Given the description of an element on the screen output the (x, y) to click on. 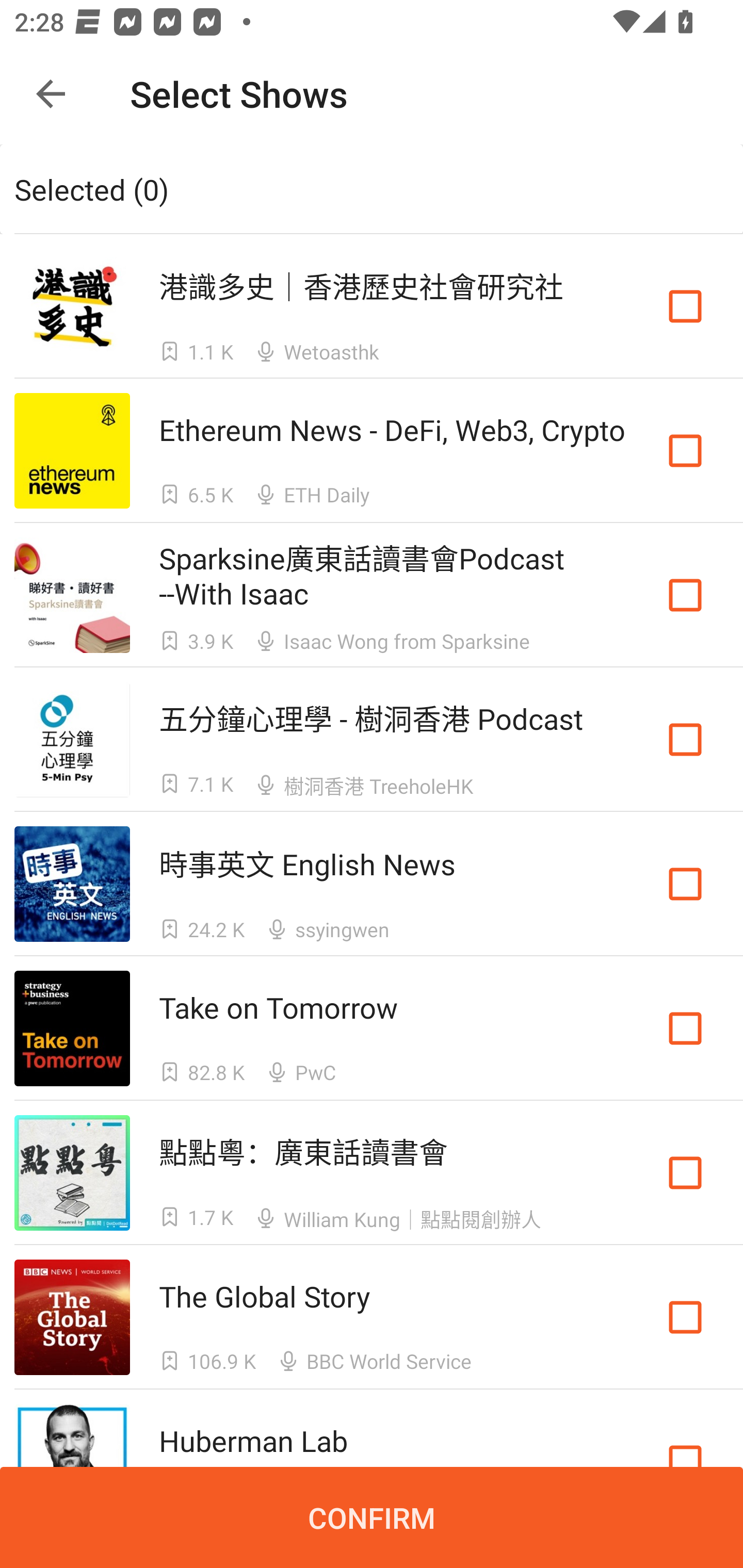
Navigate up (50, 93)
港識多史｜香港歷史社會研究社 港識多史｜香港歷史社會研究社  1.1 K  Wetoasthk (371, 305)
Take on Tomorrow Take on Tomorrow  82.8 K  PwC (371, 1028)
CONFIRM (371, 1517)
